Given the description of an element on the screen output the (x, y) to click on. 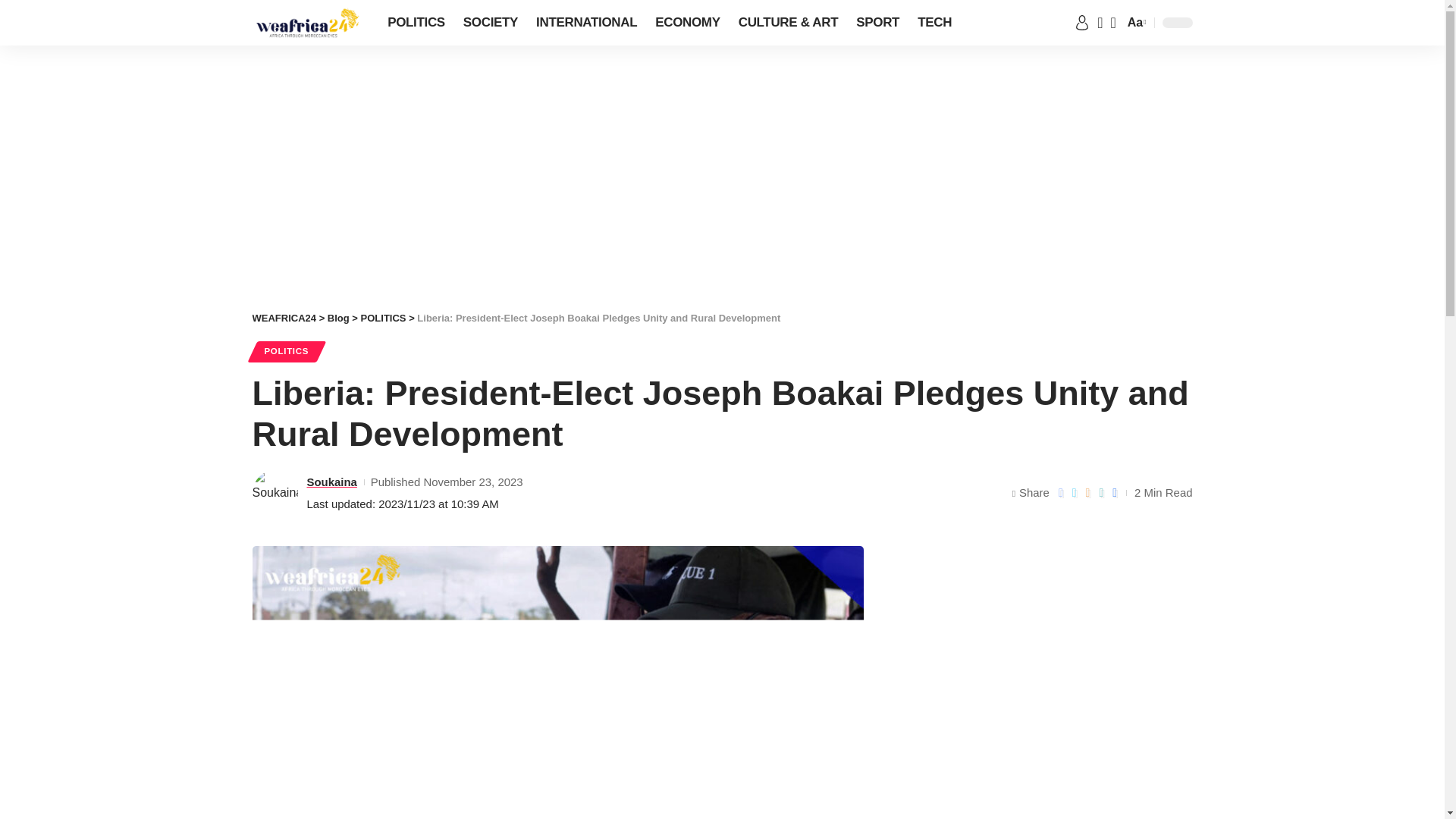
Aa (1135, 22)
SOCIETY (490, 22)
Go to WEAFRICA24. (283, 317)
INTERNATIONAL (586, 22)
ECONOMY (687, 22)
SPORT (877, 22)
TECH (934, 22)
WEAFRICA24 (306, 22)
POLITICS (416, 22)
